Given the description of an element on the screen output the (x, y) to click on. 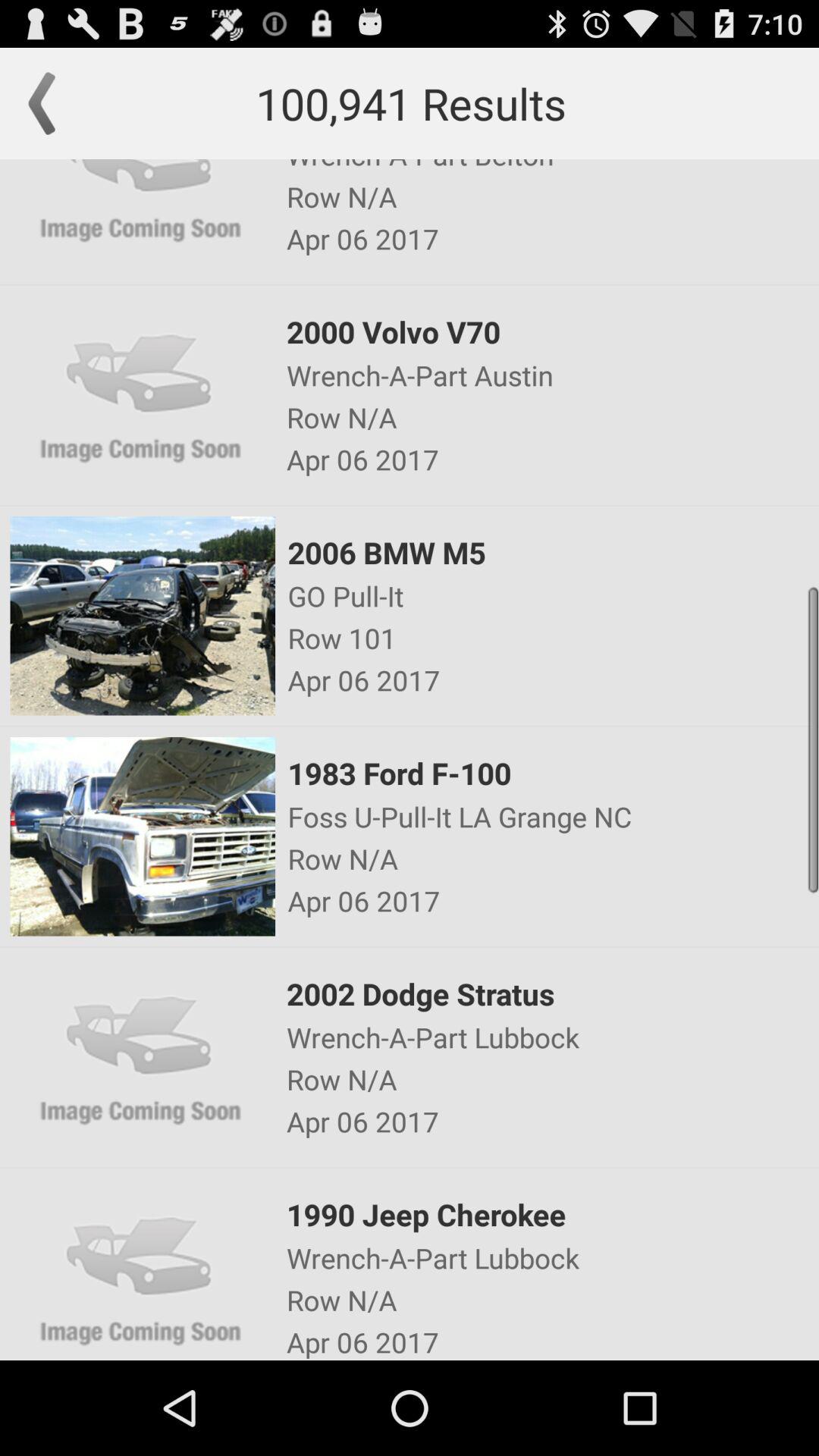
scroll until the 1983 ford f app (551, 773)
